Given the description of an element on the screen output the (x, y) to click on. 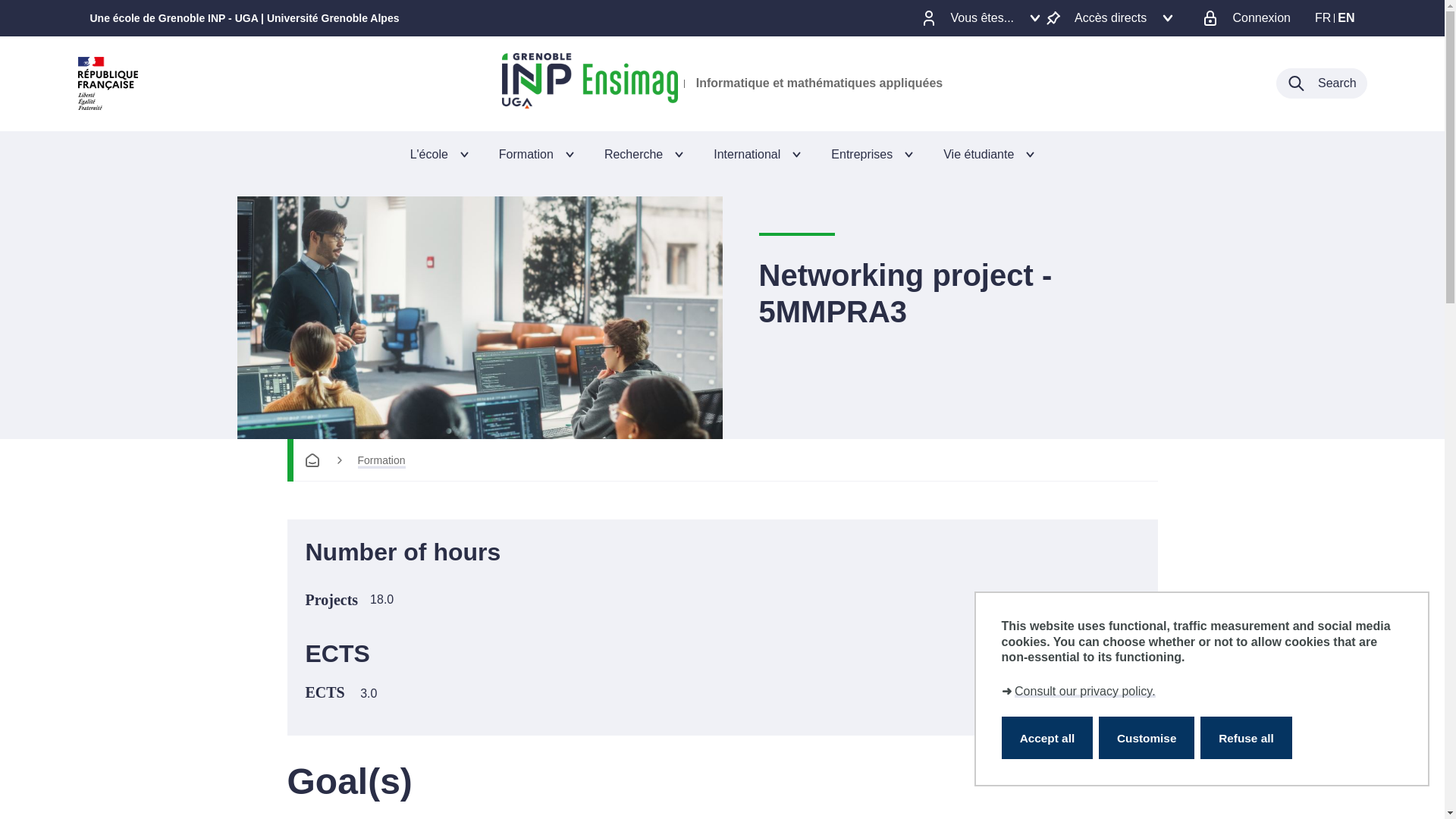
Search (1321, 82)
 Connexion (1255, 17)
Consult our privacy policy. (1085, 690)
Accept all (1047, 737)
Accept cookies (1047, 737)
Customise (1147, 737)
Refuse all (1245, 737)
FR (1322, 18)
Grenoble INP - Ensimag, UGA-Back to homepage (590, 83)
